Given the description of an element on the screen output the (x, y) to click on. 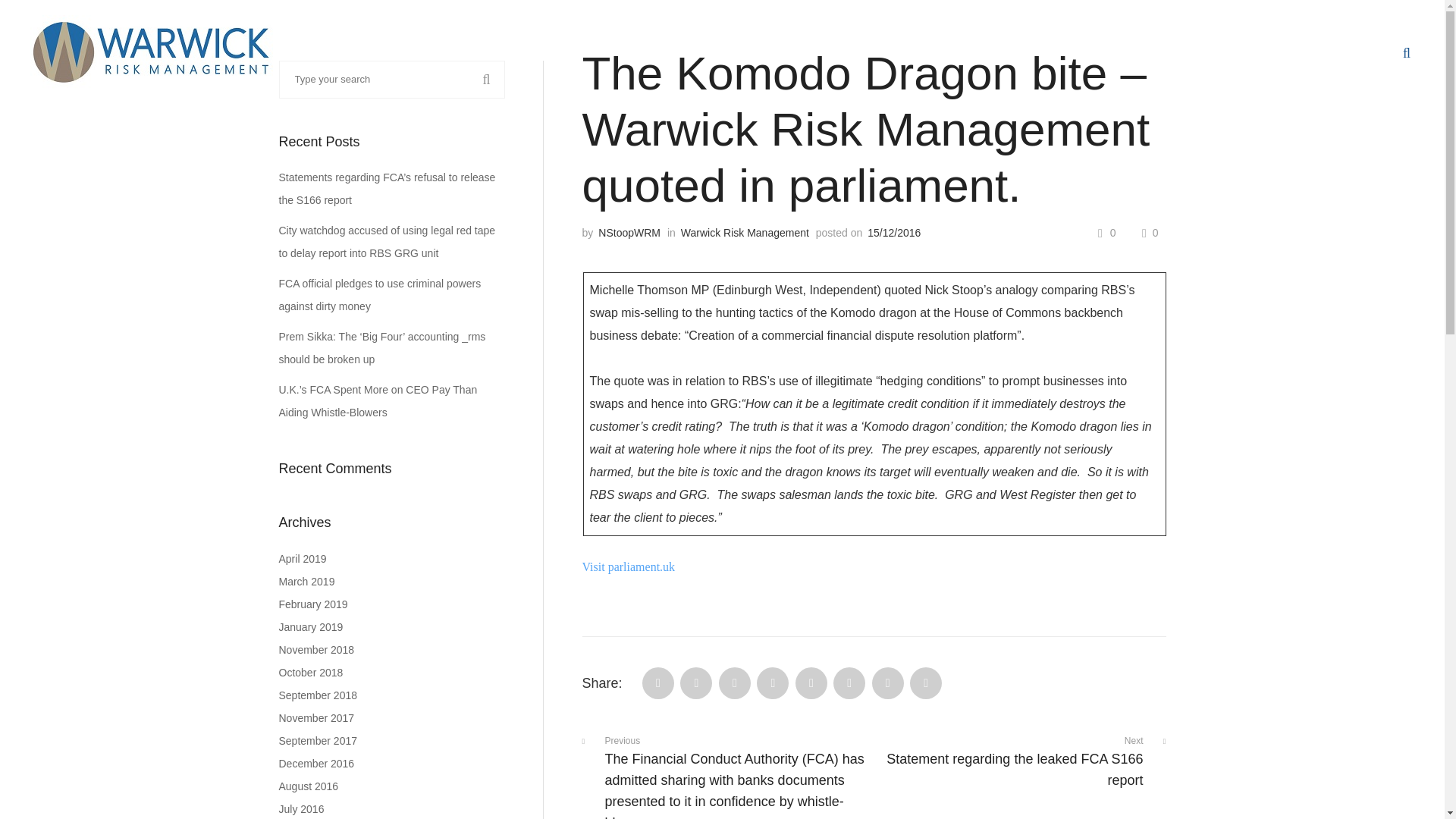
Reddit (773, 683)
Home (780, 52)
Healthcare (1112, 52)
Linkedin Share (735, 683)
Warwick Risk Management (745, 232)
About (963, 52)
Statement regarding the leaked FCA S166 report (1022, 762)
Digg (810, 683)
News (1184, 52)
Testimonials (1262, 52)
